Given the description of an element on the screen output the (x, y) to click on. 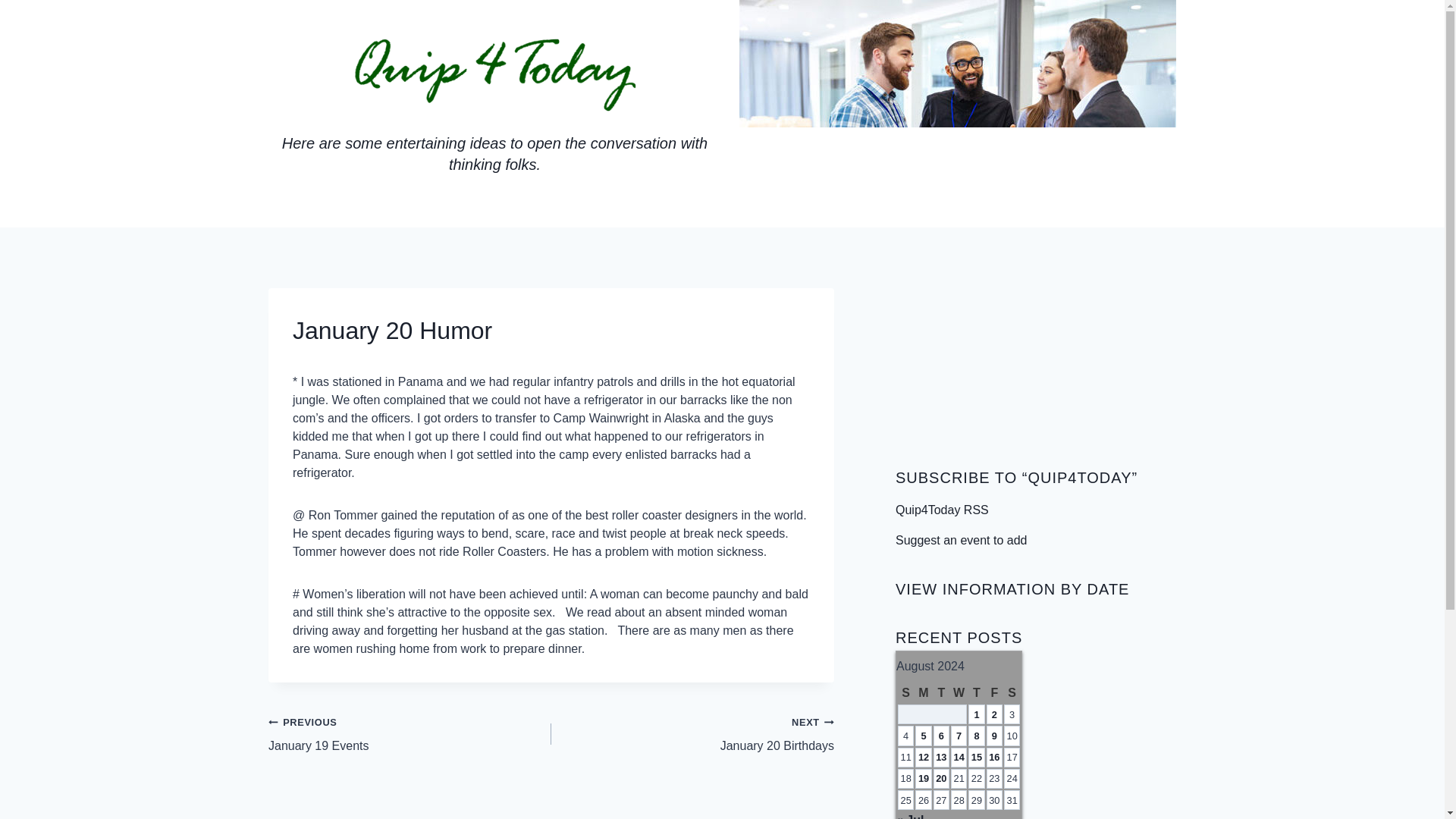
13 (941, 756)
19 (923, 778)
15 (976, 756)
12 (923, 756)
Quip4Today RSS (941, 509)
Suggest an event to add (409, 733)
16 (960, 540)
